Given the description of an element on the screen output the (x, y) to click on. 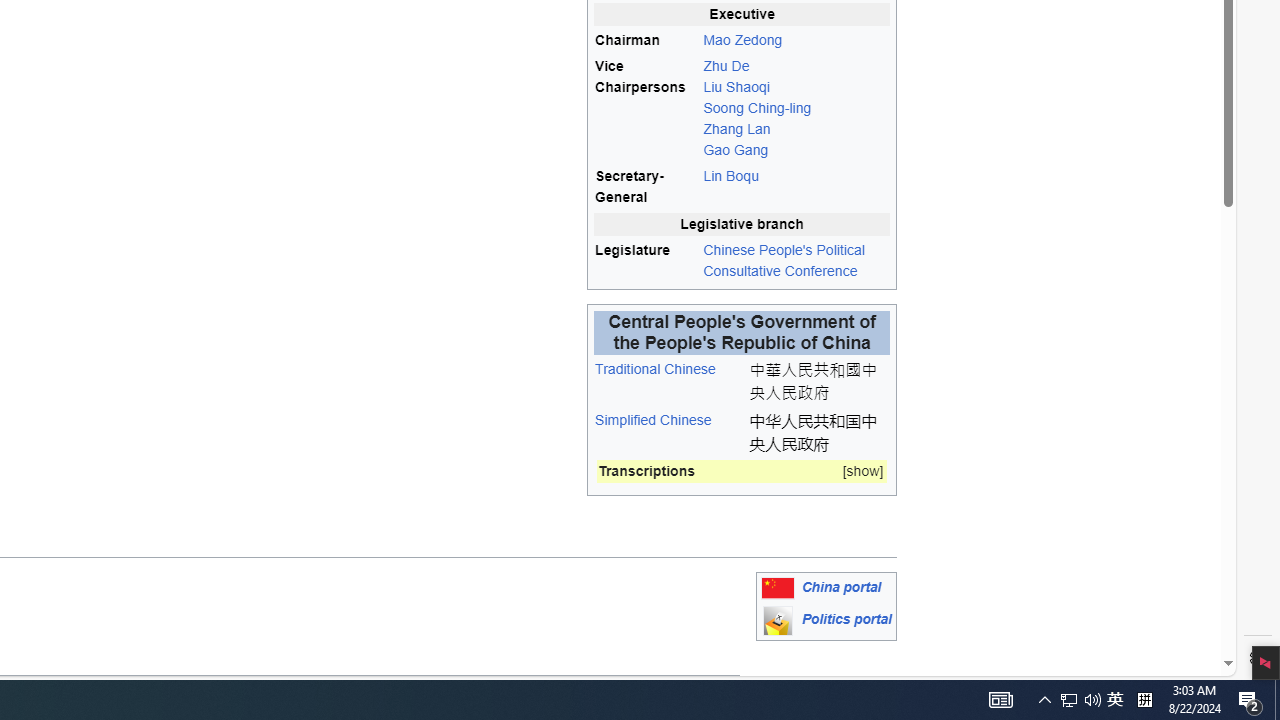
Chairman (646, 39)
flag (777, 588)
[show] (862, 471)
Politics portal (846, 619)
[show] Transcriptions (742, 471)
Zhang Lan (736, 129)
Mao Zedong (795, 39)
China portal (841, 588)
Zhu De (726, 65)
Lin Boqu (795, 187)
Gao Gang (735, 150)
Soong Ching-ling (756, 108)
Class: infobox-full-data (741, 475)
